Given the description of an element on the screen output the (x, y) to click on. 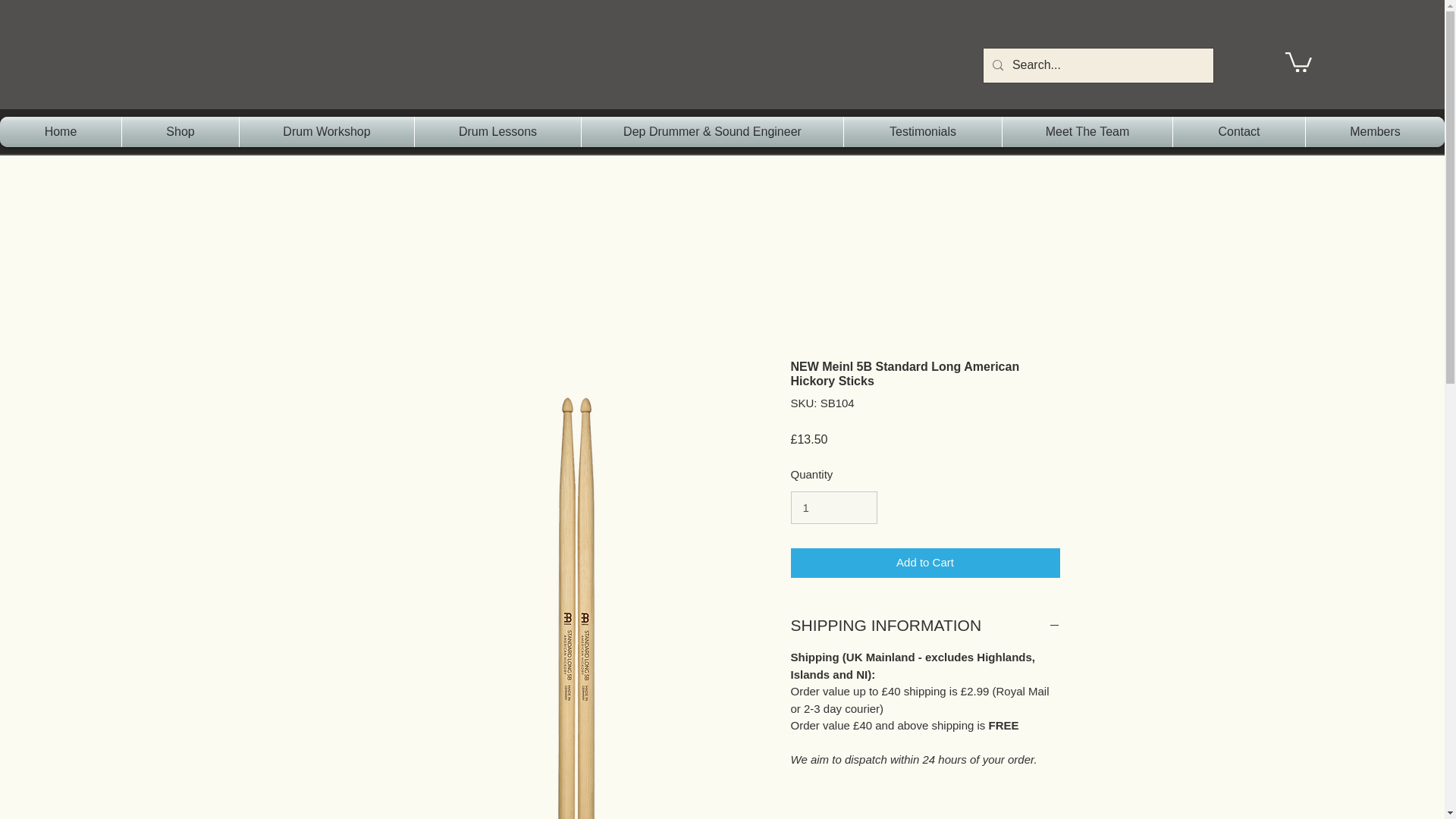
Drum Lessons (497, 132)
Meet The Team (1087, 132)
1 (833, 507)
Shop (180, 132)
Contact (1238, 132)
Testimonials (922, 132)
Home (60, 132)
Drum Workshop (326, 132)
